Given the description of an element on the screen output the (x, y) to click on. 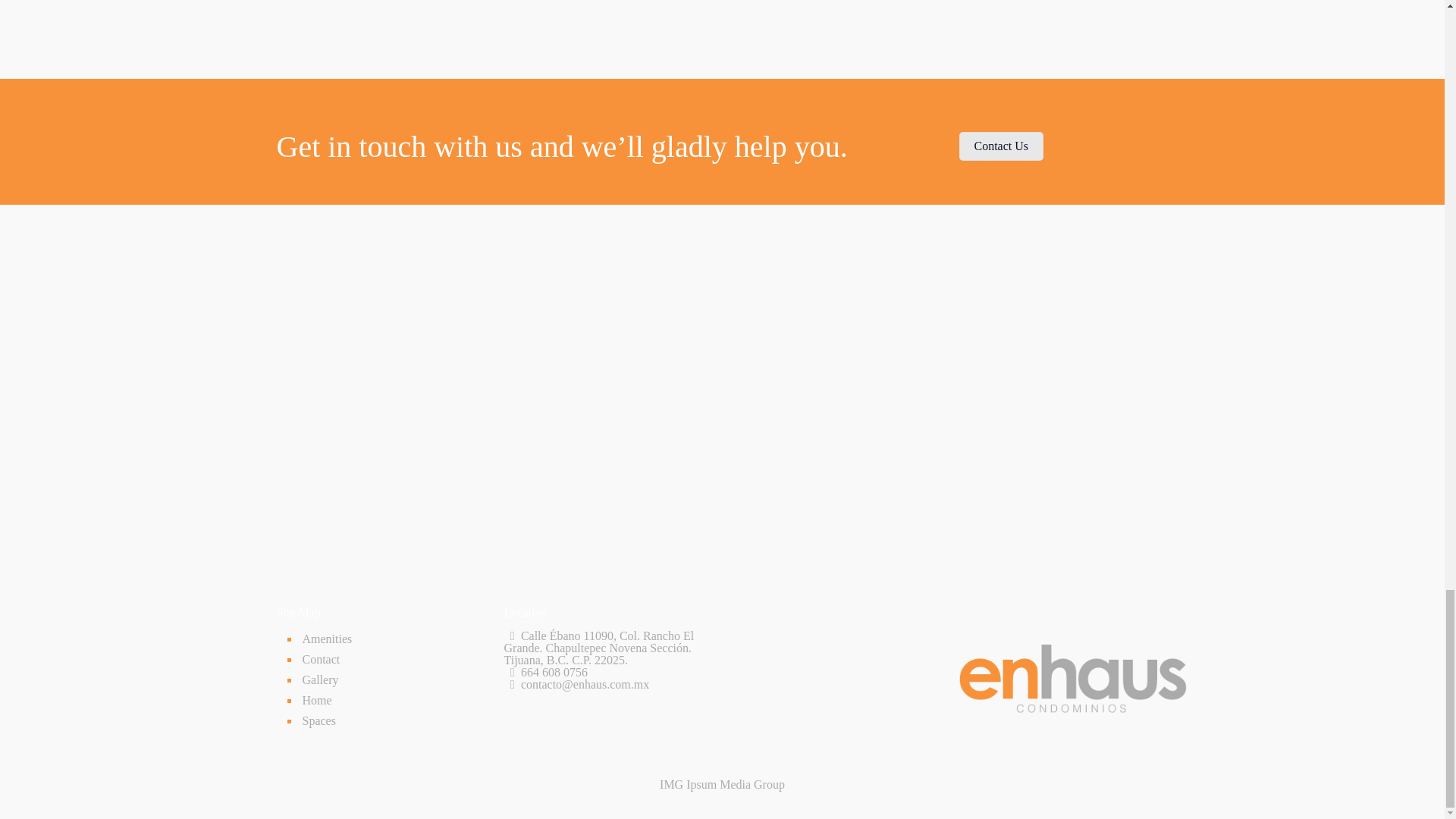
Contact (391, 660)
Amenities (391, 639)
Contact Us (1000, 145)
Spaces (391, 721)
664 608 0756 (554, 671)
Home (391, 701)
Gallery (391, 680)
